Given the description of an element on the screen output the (x, y) to click on. 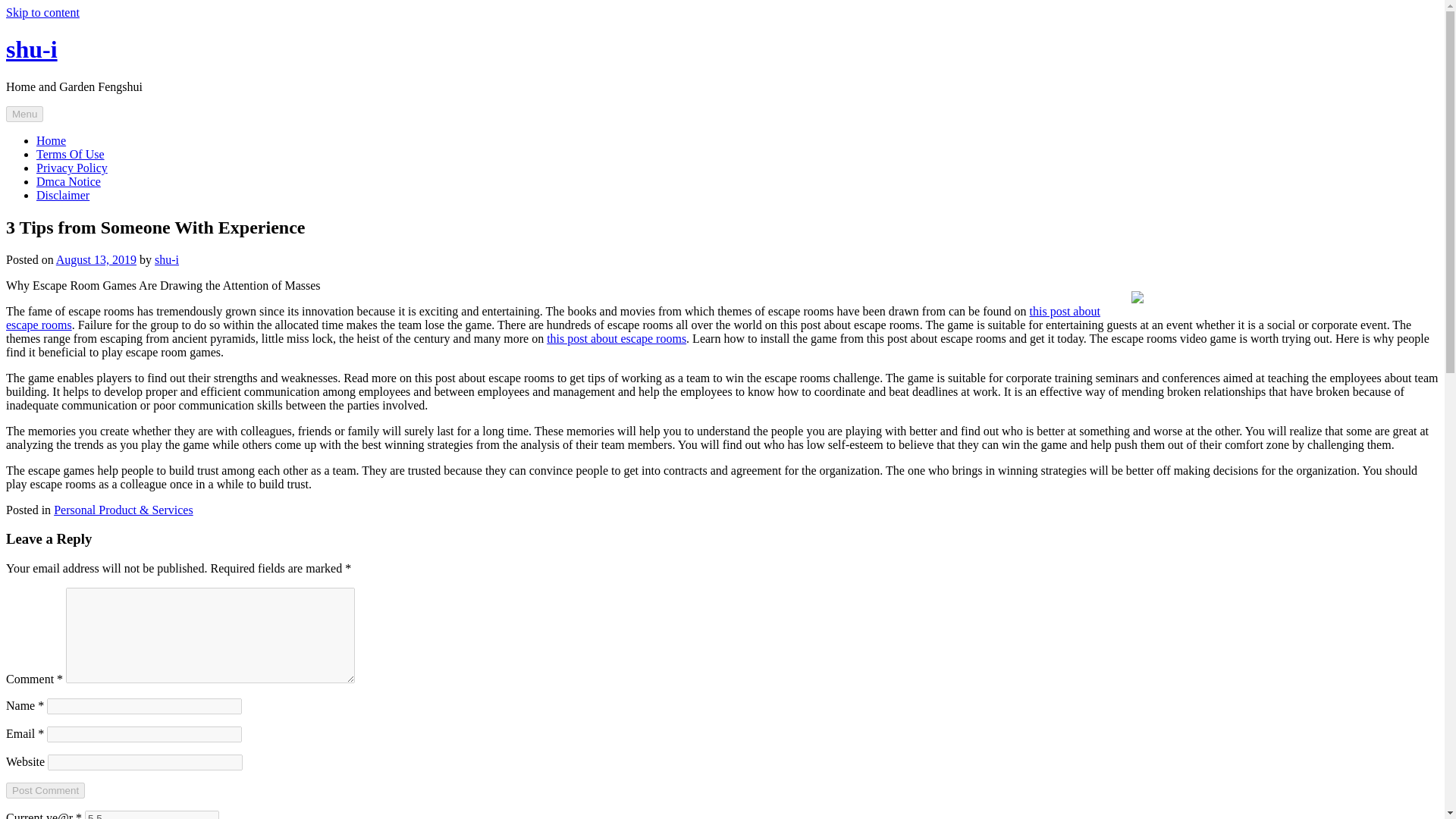
Privacy Policy (71, 167)
August 13, 2019 (96, 259)
Dmca Notice (68, 181)
Disclaimer (62, 195)
Post Comment (44, 790)
shu-i (31, 49)
Terms Of Use (70, 154)
Post Comment (44, 790)
Skip to content (42, 11)
this post about escape rooms (616, 338)
Menu (24, 114)
5.5 (151, 814)
Home (50, 140)
shu-i (166, 259)
this post about escape rooms (552, 317)
